Given the description of an element on the screen output the (x, y) to click on. 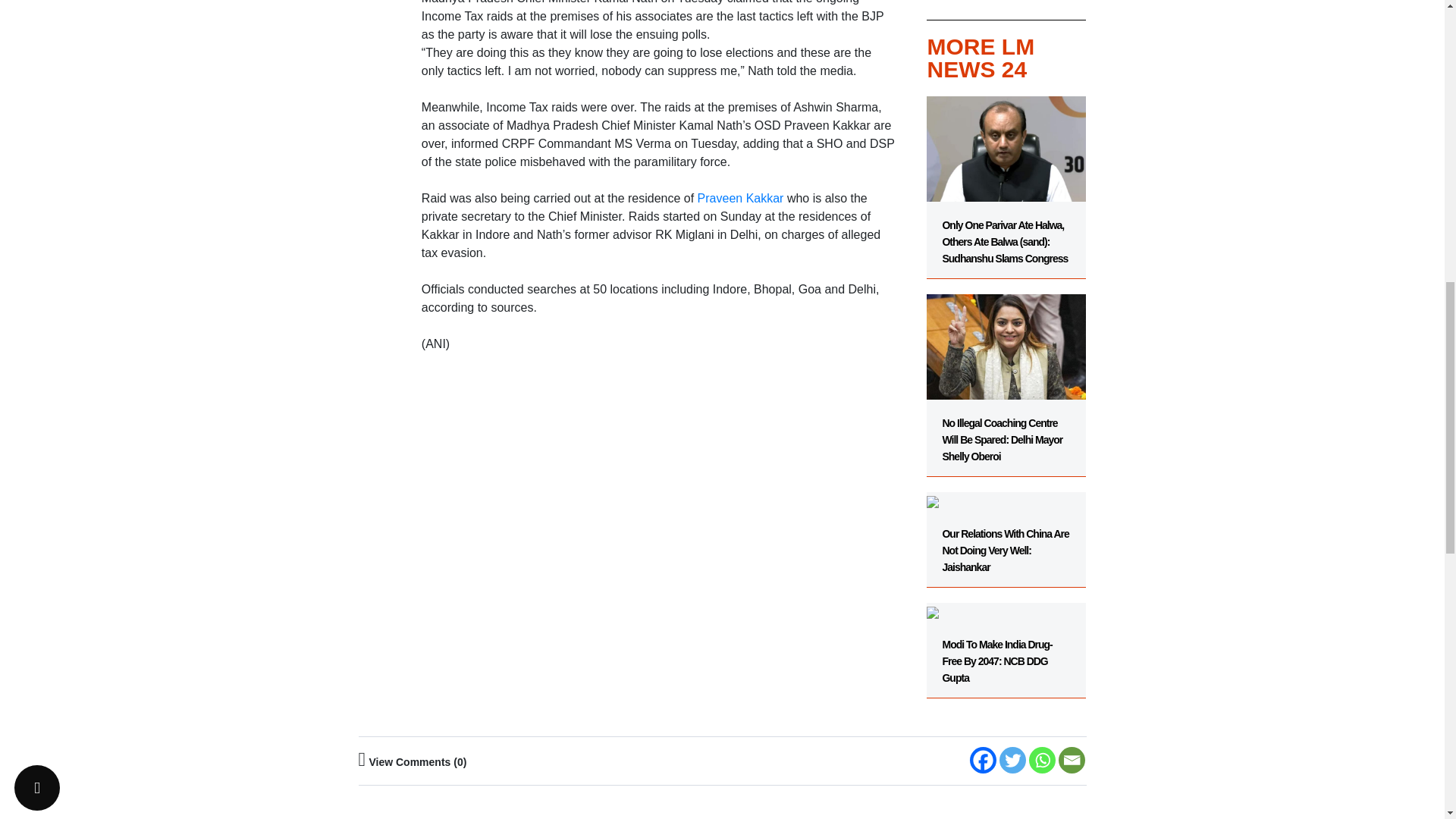
Our Relations With China Are Not Doing Very Well: Jaishankar (1006, 532)
Praveen Kakkar (742, 197)
Modi To Make India Drug-Free By 2047: NCB DDG Gupta (1006, 643)
